Given the description of an element on the screen output the (x, y) to click on. 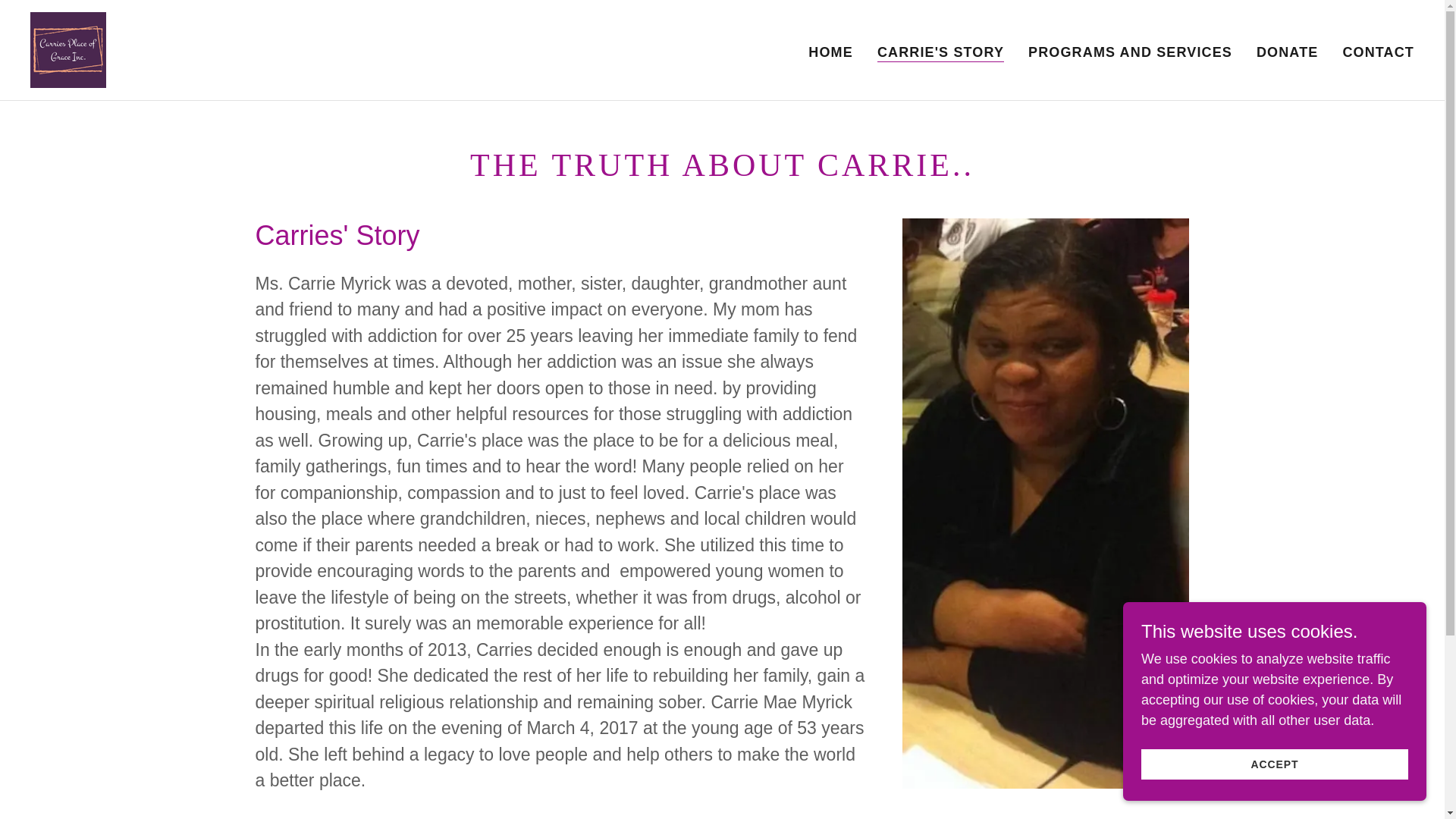
ACCEPT (1274, 764)
CONTACT (1378, 51)
PROGRAMS AND SERVICES (1129, 51)
Carrie's Place of Grace (68, 48)
DONATE (1287, 51)
CARRIE'S STORY (940, 51)
HOME (830, 51)
